Given the description of an element on the screen output the (x, y) to click on. 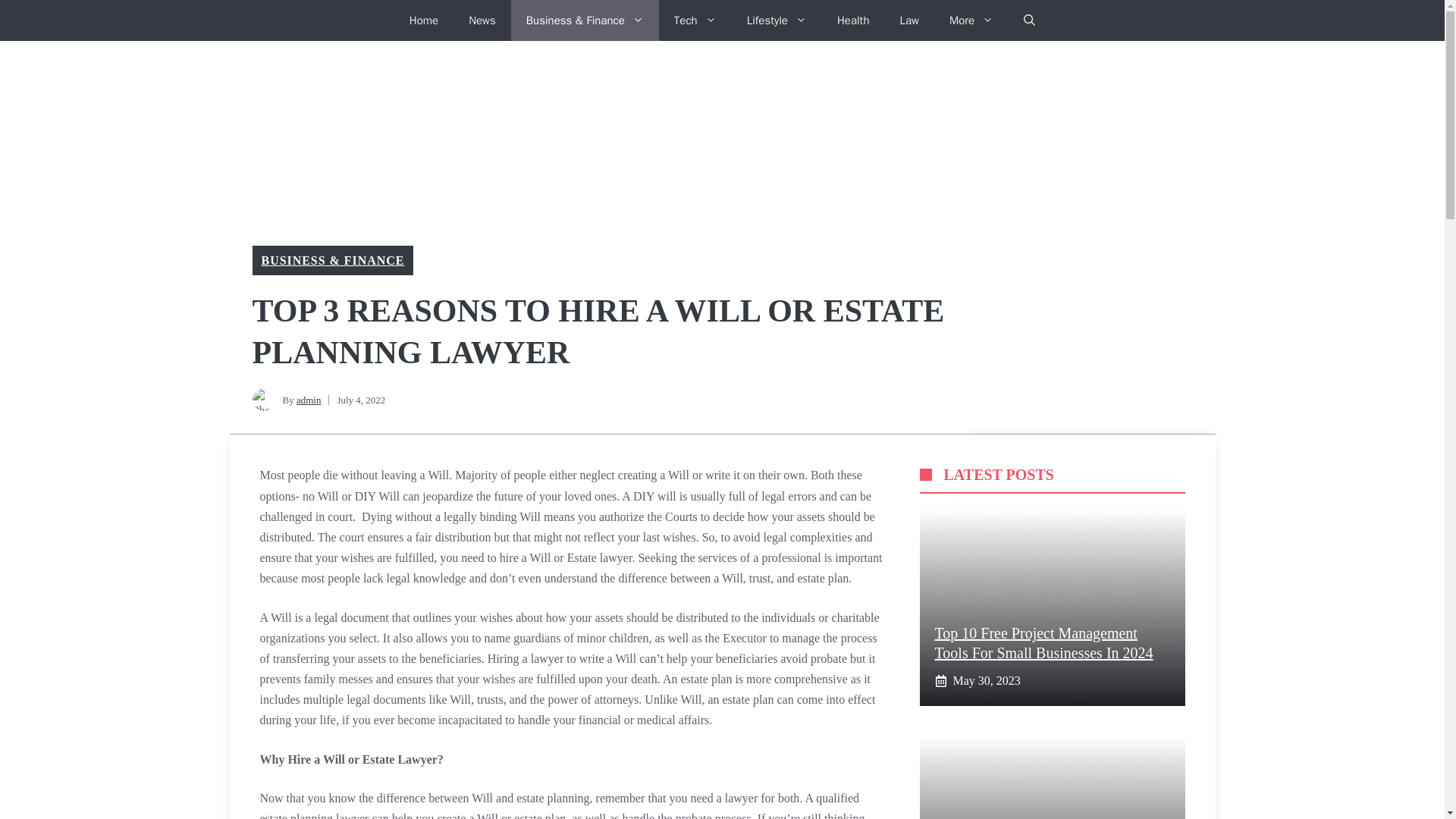
Home (423, 20)
Tech (695, 20)
Lifestyle (777, 20)
News (481, 20)
